Given the description of an element on the screen output the (x, y) to click on. 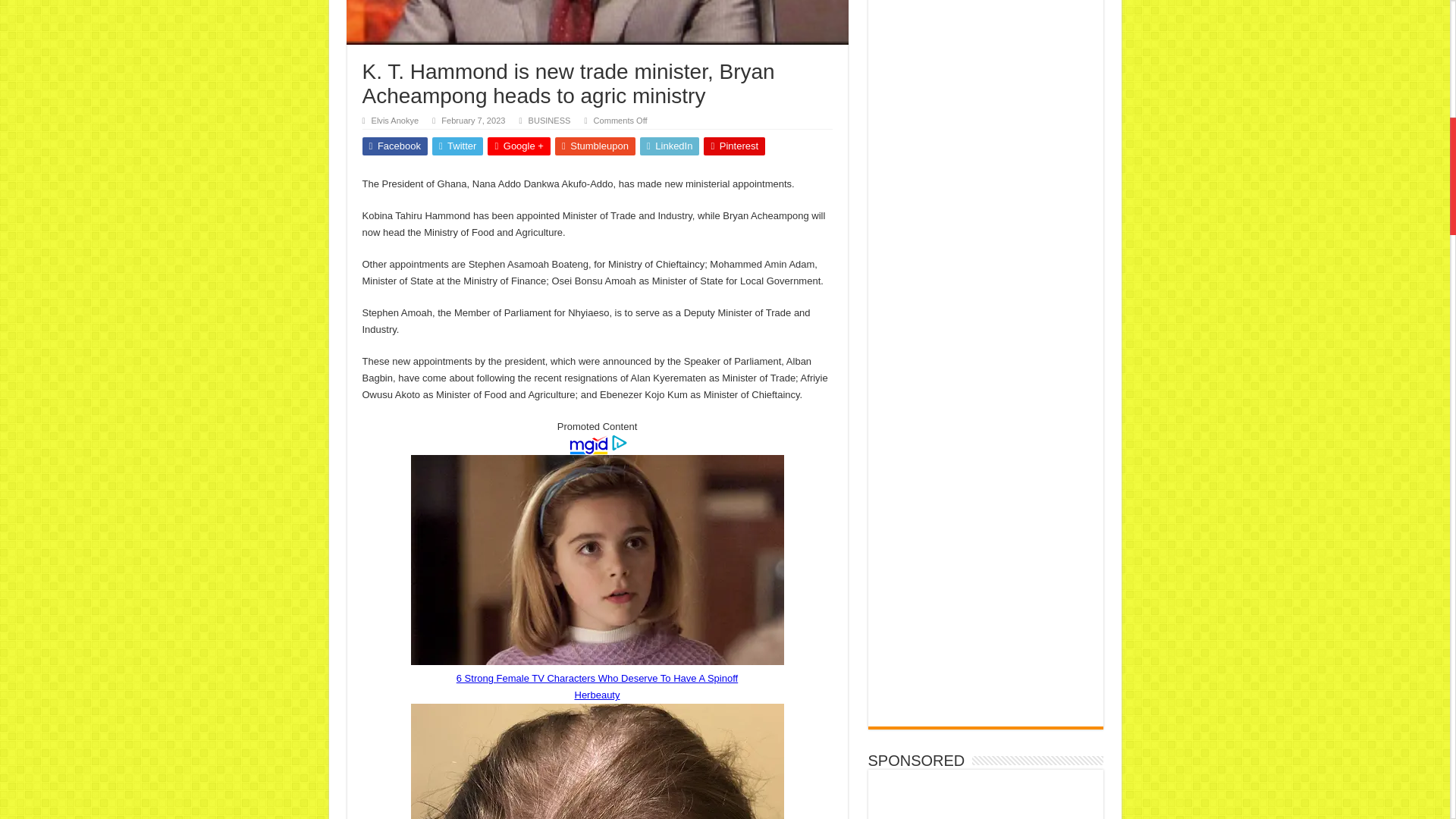
Scroll To Top (1427, 60)
Elvis Anokye (395, 120)
Twitter (457, 146)
BUSINESS (549, 120)
Facebook (395, 146)
